Given the description of an element on the screen output the (x, y) to click on. 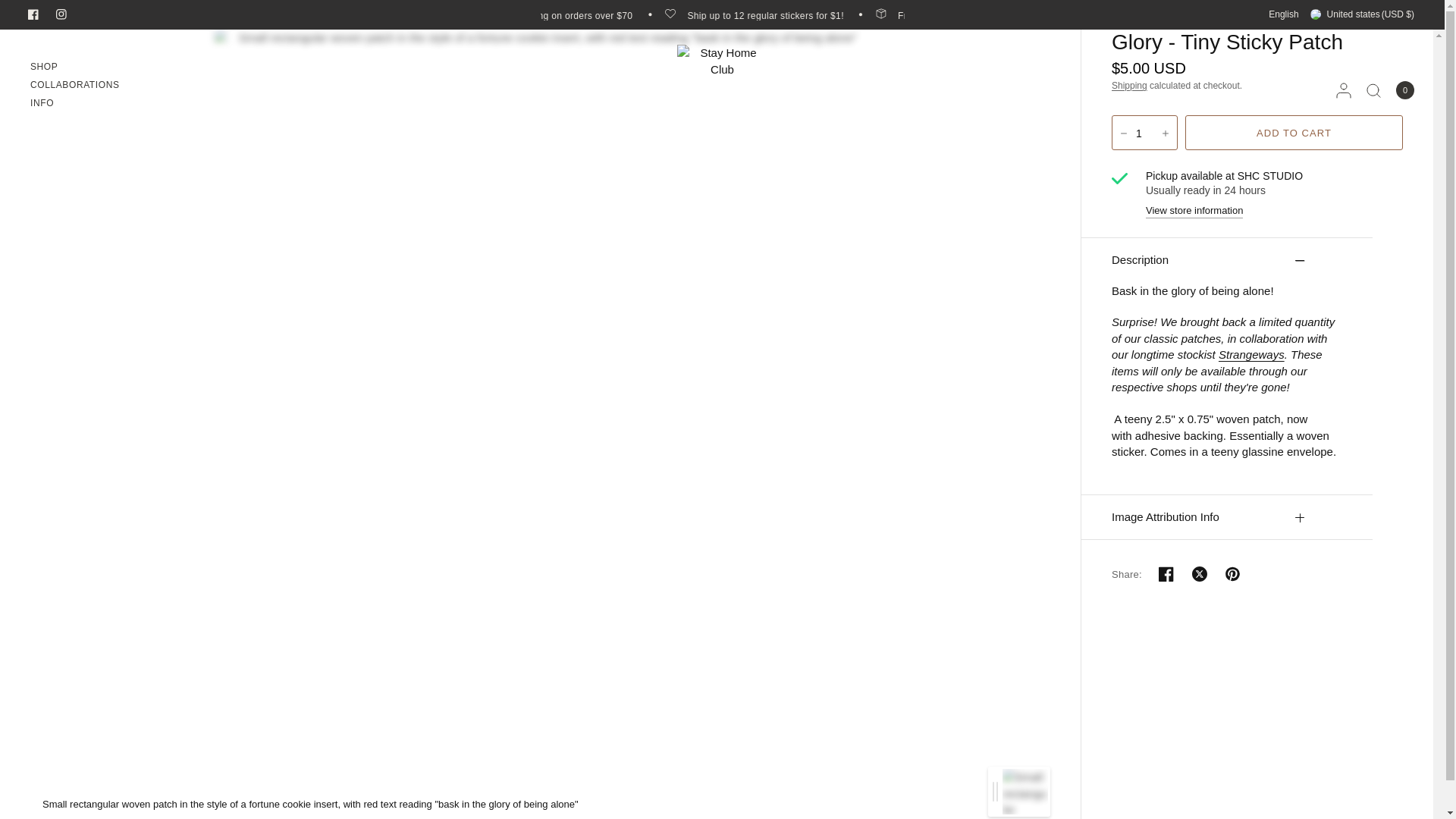
Instagram (68, 14)
Facebook (40, 14)
English (1283, 14)
